Given the description of an element on the screen output the (x, y) to click on. 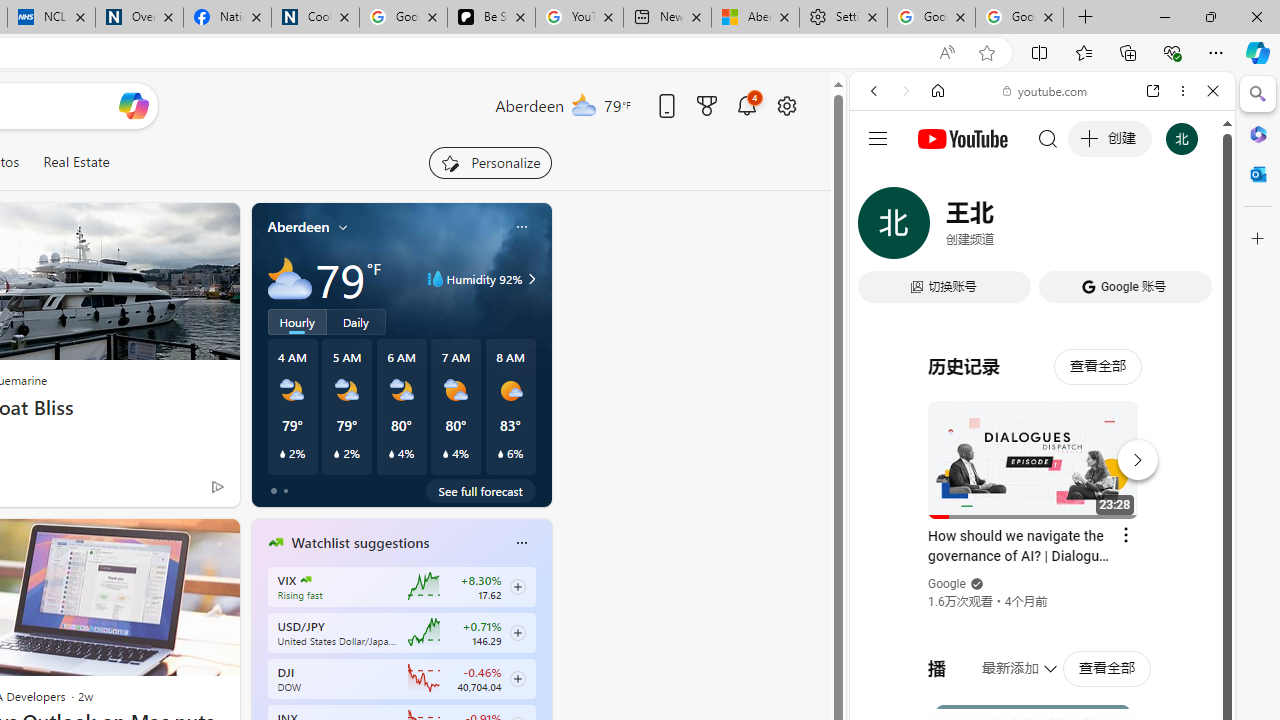
Trailer #2 [HD] (1042, 592)
